Given the description of an element on the screen output the (x, y) to click on. 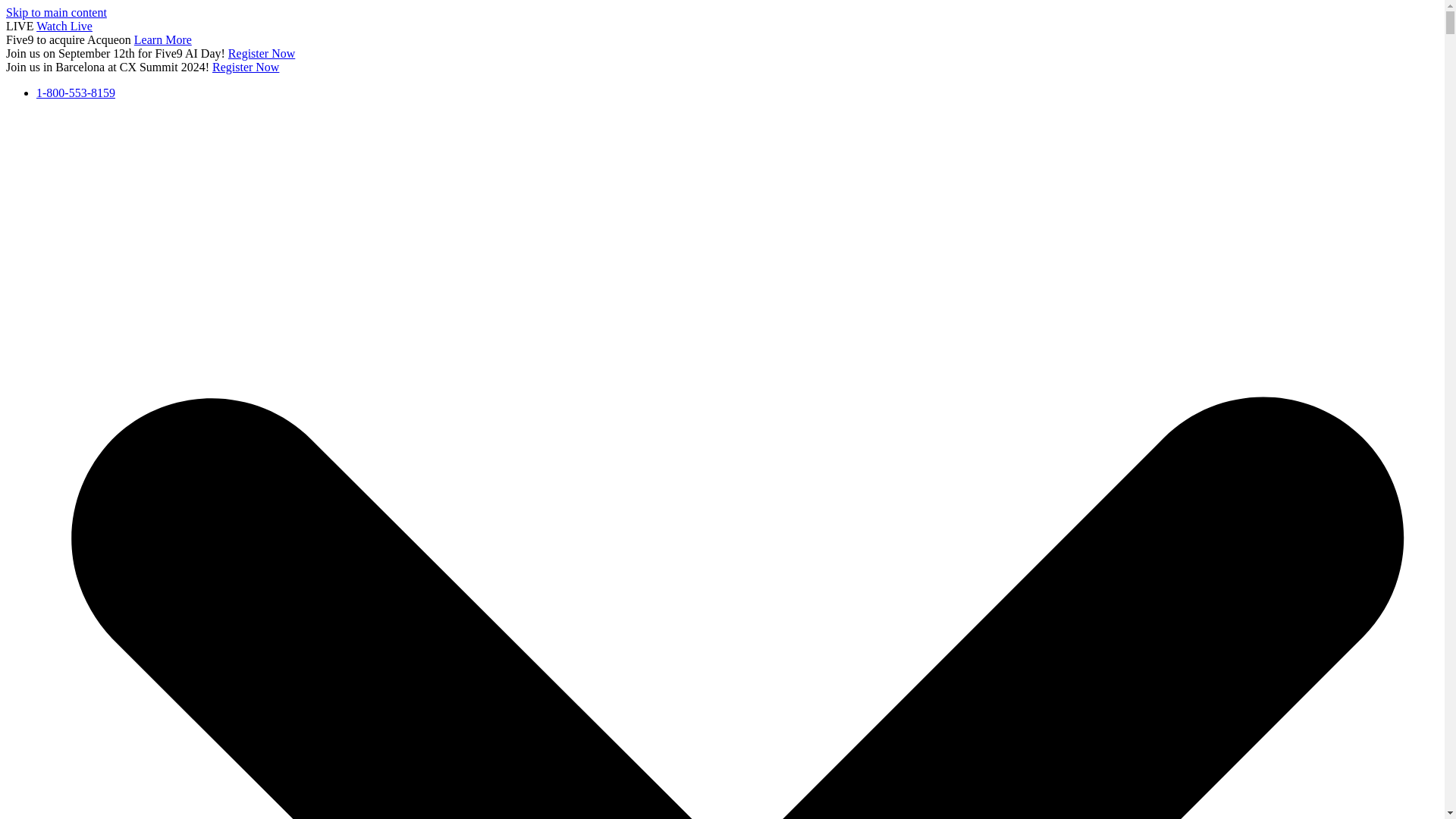
Register Now (245, 66)
Watch Live (64, 25)
Skip to main content (55, 11)
Learn More (162, 39)
Register Now (261, 52)
1-800-553-8159 (75, 92)
